Given the description of an element on the screen output the (x, y) to click on. 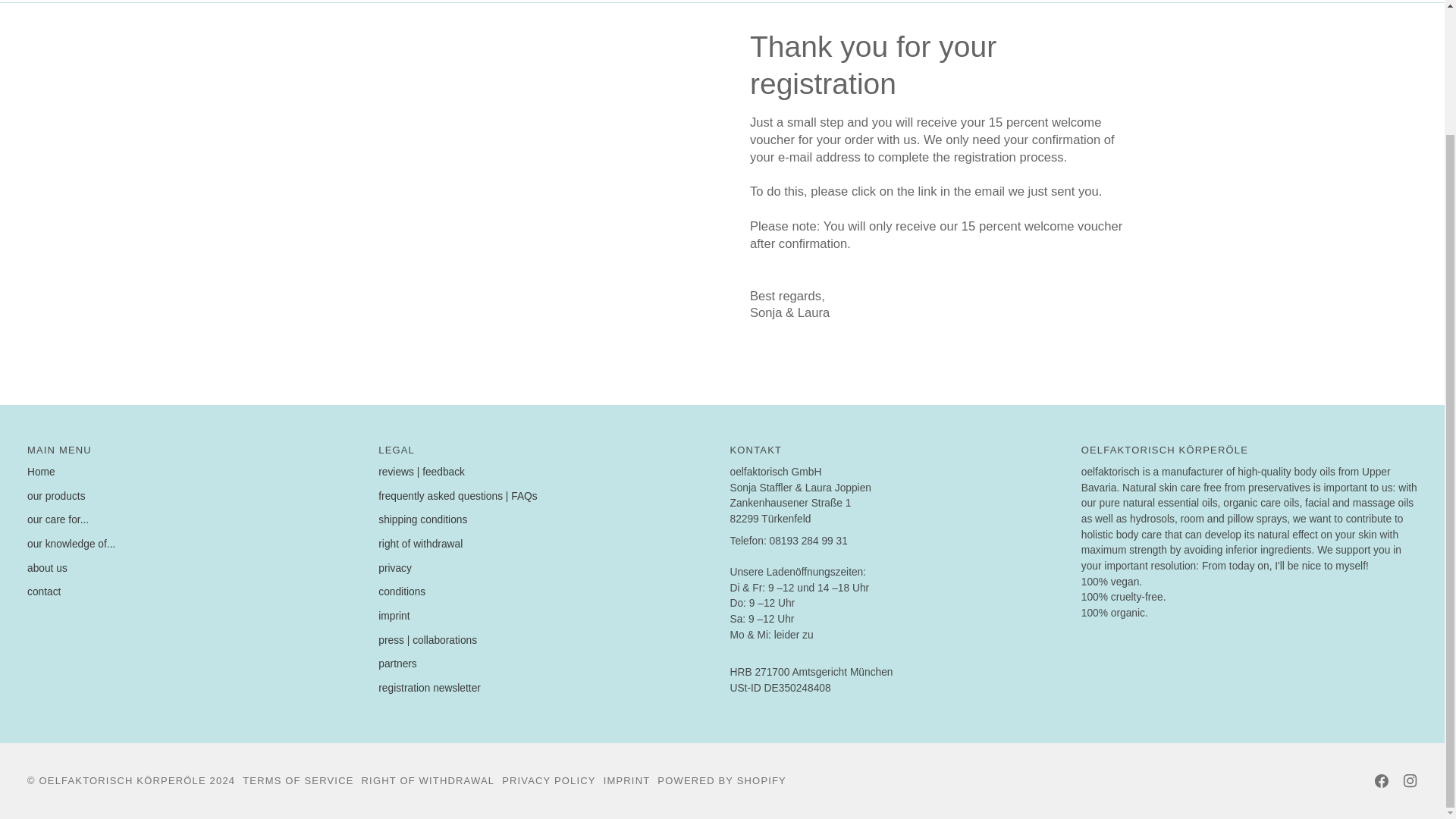
HOME (529, 1)
OUR CARE FOR... (713, 1)
Instagram (1409, 780)
Facebook (1381, 780)
OUR KNOWLEDGE OF... (835, 1)
OUR PRODUCTS (607, 1)
